Given the description of an element on the screen output the (x, y) to click on. 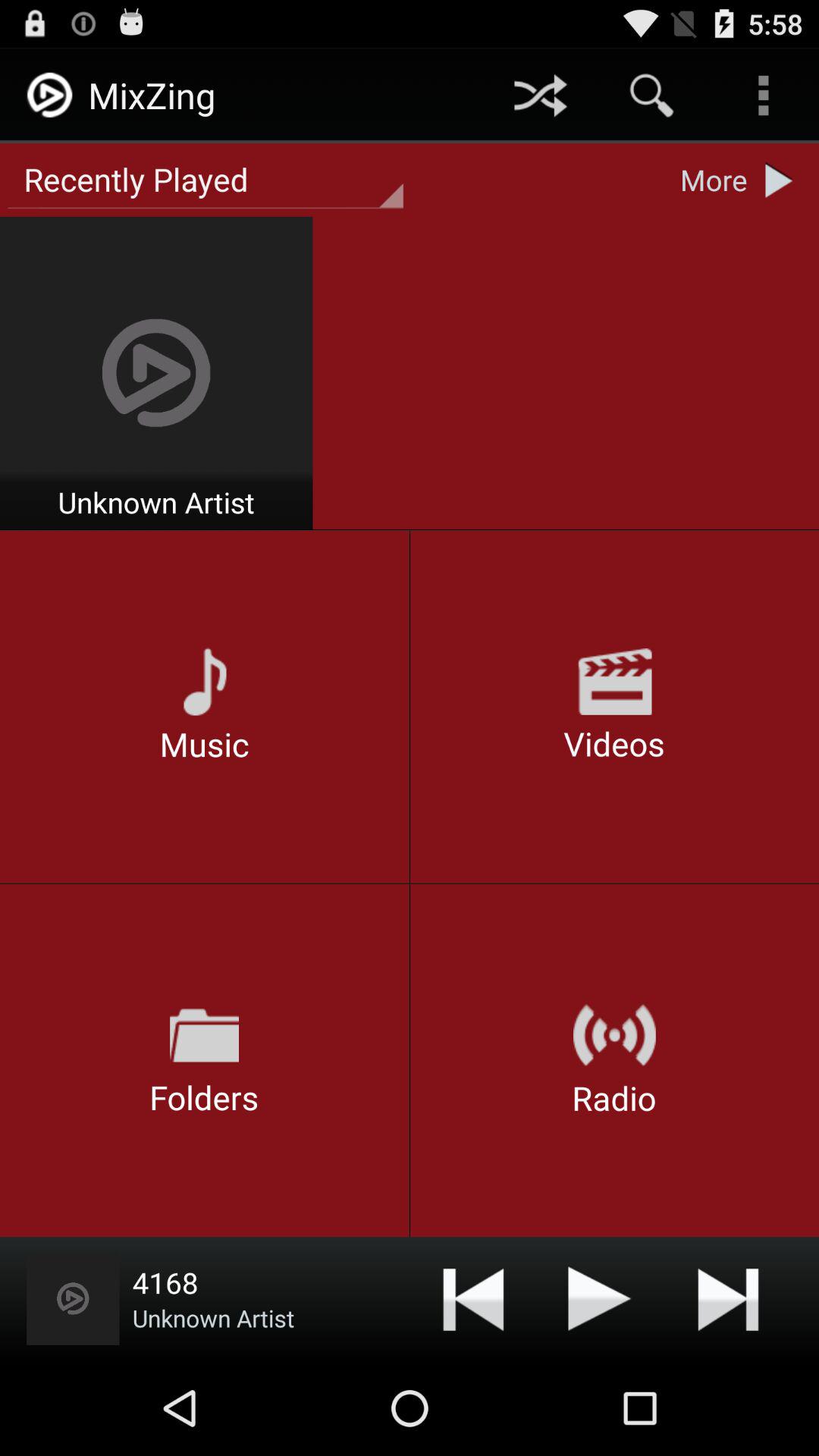
more (783, 179)
